Given the description of an element on the screen output the (x, y) to click on. 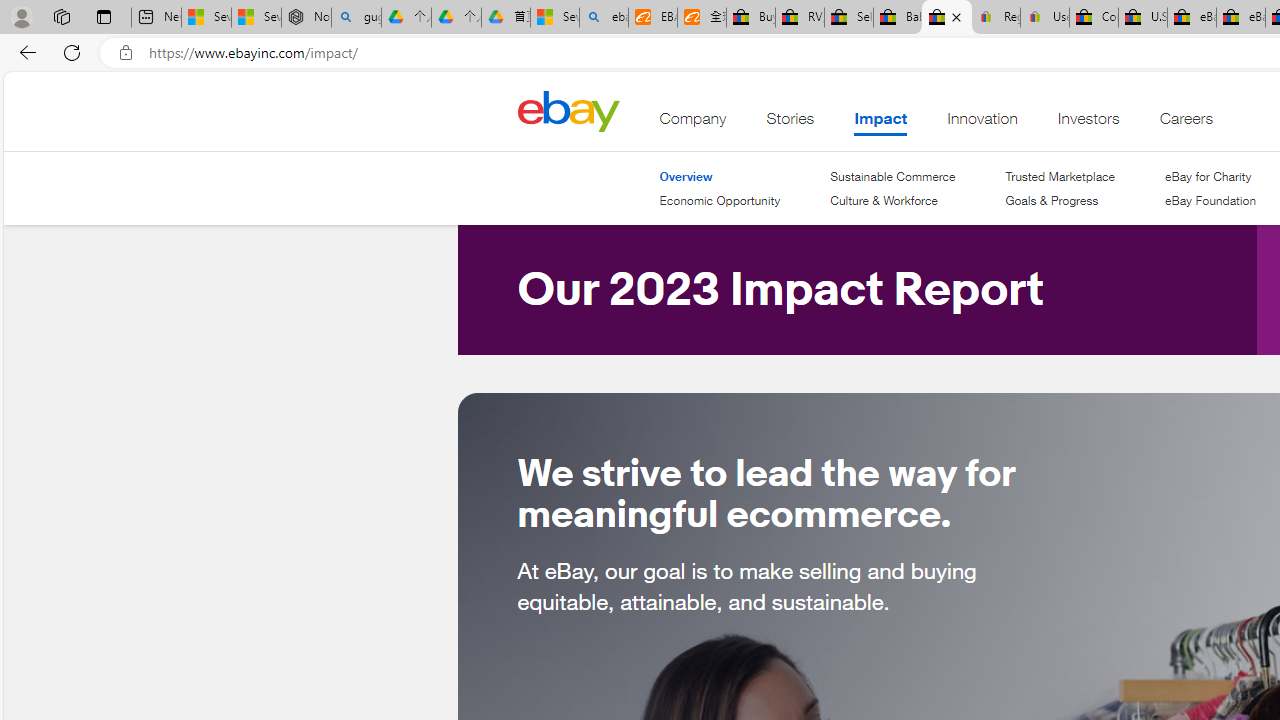
eBay Foundation (1209, 201)
Investors (1088, 123)
Economic Opportunity (719, 200)
Sustainable Commerce (892, 176)
Sustainable Commerce (892, 176)
Culture & Workforce (883, 200)
Buy Auto Parts & Accessories | eBay (750, 17)
Impact (880, 123)
